Given the description of an element on the screen output the (x, y) to click on. 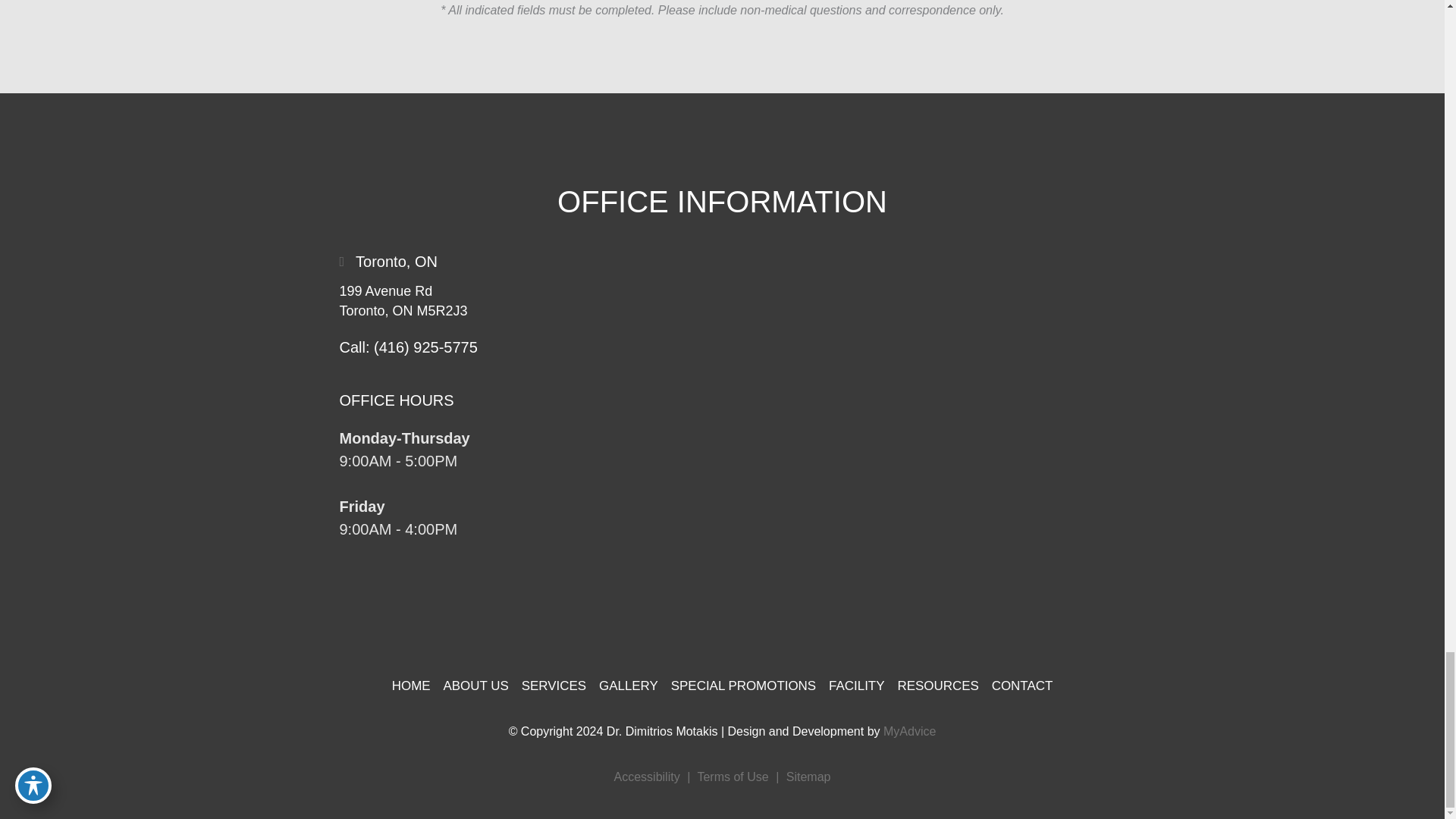
Map Location (920, 403)
